Given the description of an element on the screen output the (x, y) to click on. 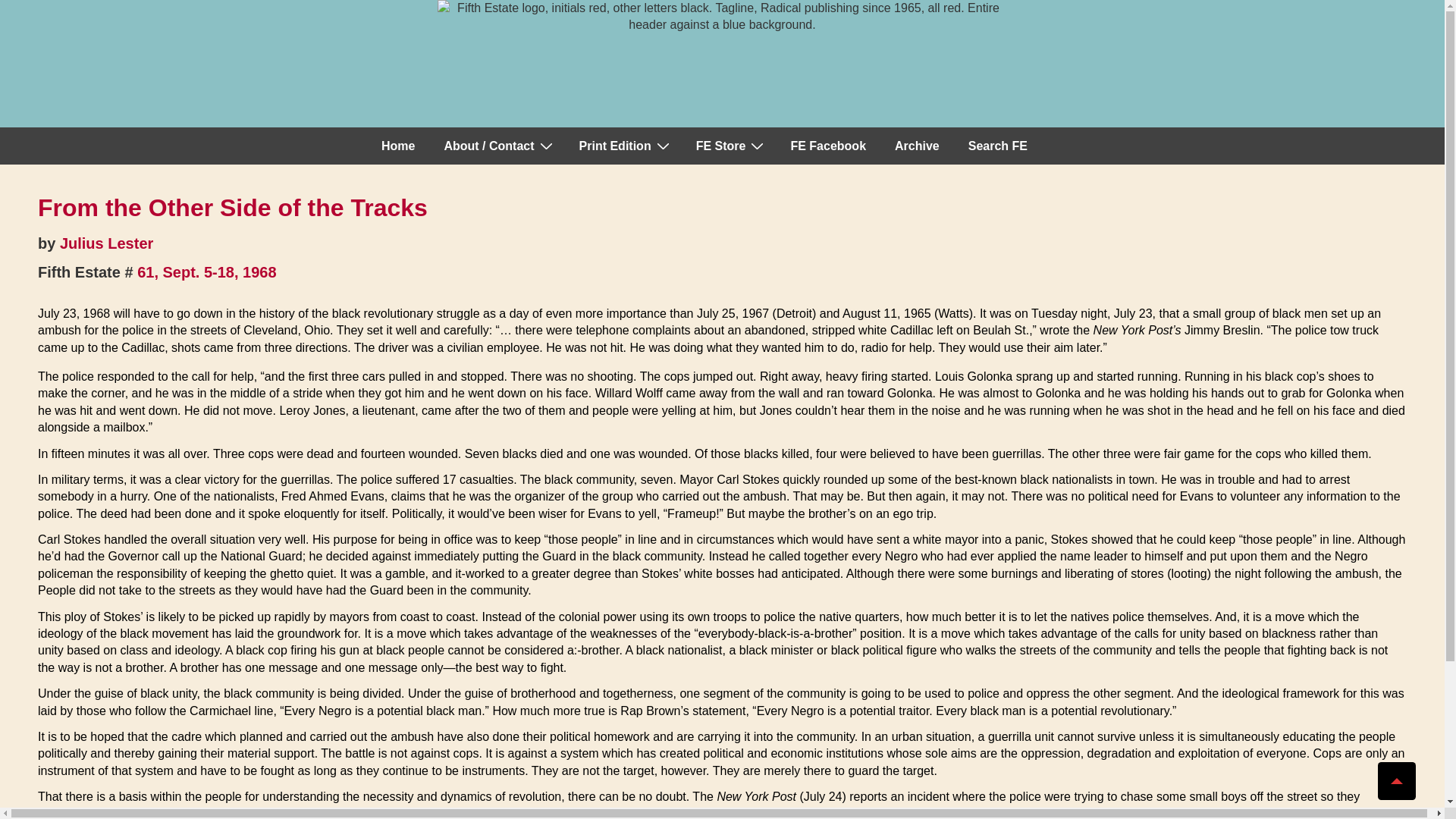
Recordings (729, 145)
61, Sept. 5-18, 1968 (206, 271)
Home (398, 145)
Search FE (998, 145)
Archive (916, 145)
FE Facebook (827, 145)
Top (1396, 781)
Scroll to Top (1396, 781)
FE Store (729, 145)
Print Edition (623, 145)
